Given the description of an element on the screen output the (x, y) to click on. 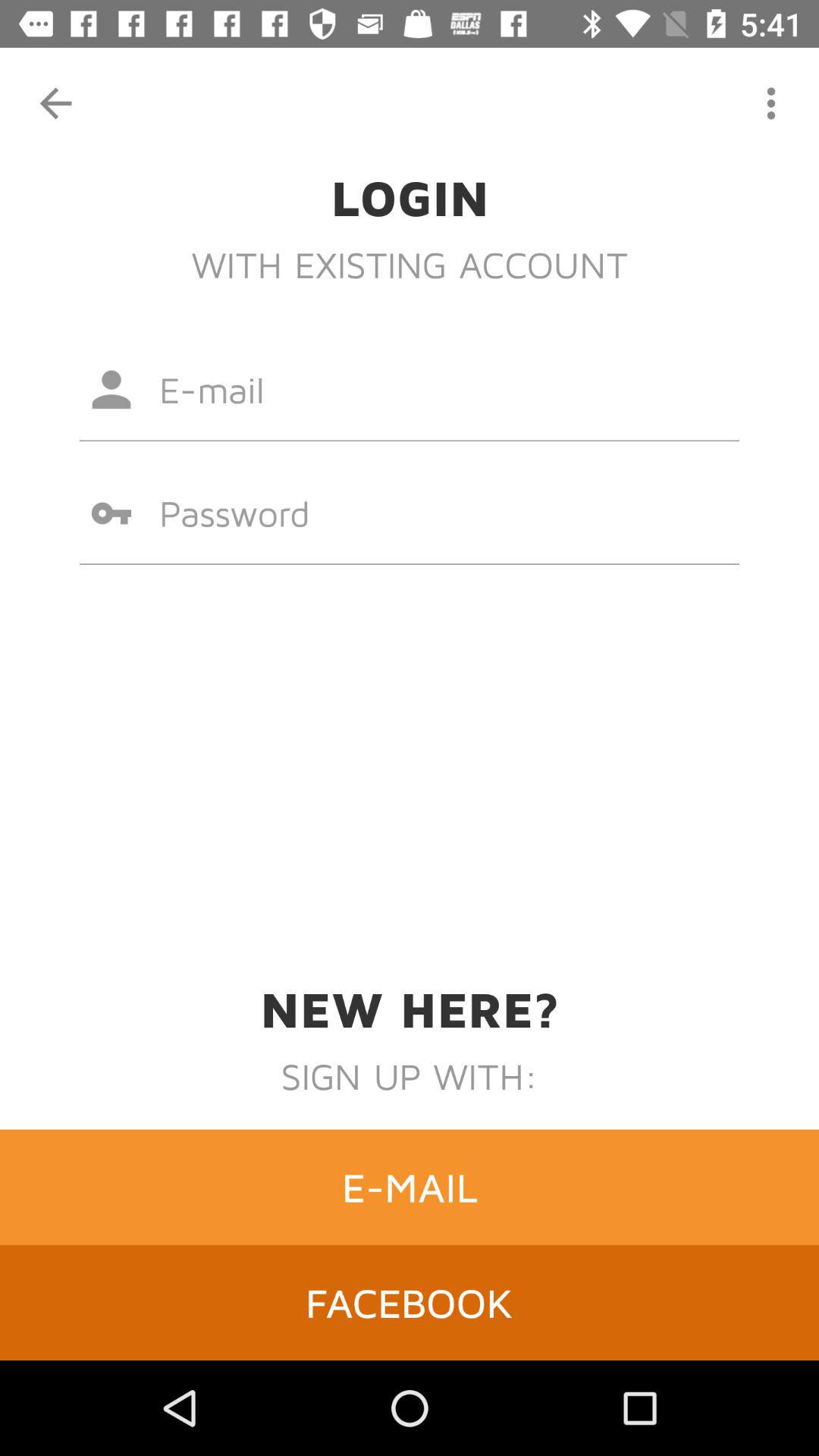
turn on the item above facebook (409, 1186)
